Given the description of an element on the screen output the (x, y) to click on. 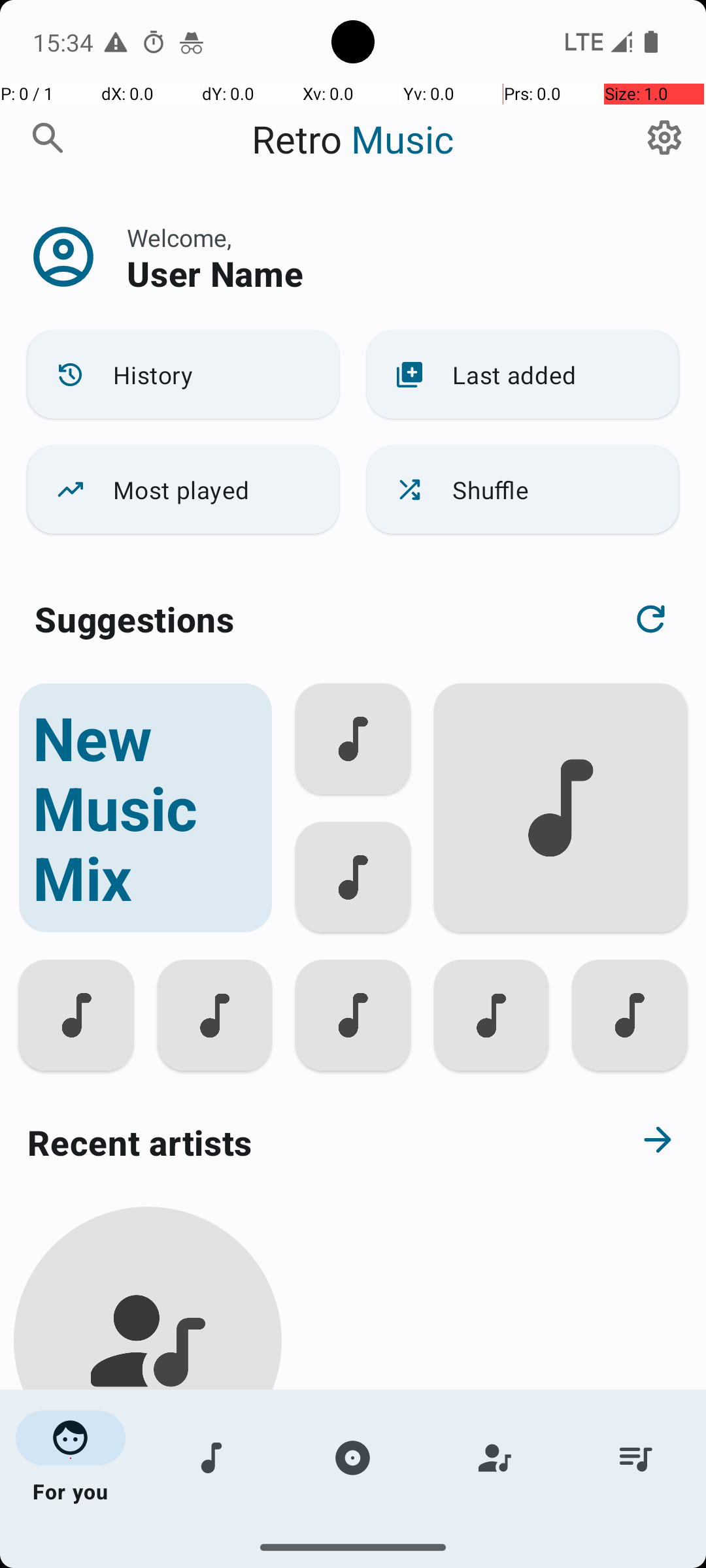
Welcome, Element type: android.widget.TextView (179, 237)
User Name Element type: android.widget.TextView (214, 273)
Most played Element type: android.widget.Button (183, 489)
Suggestions Element type: android.widget.TextView (134, 618)
New Music Mix Element type: android.widget.TextView (144, 807)
Recent artists Element type: android.widget.TextView (304, 1141)
Recent albums Element type: android.widget.TextView (304, 1557)
Mohammad Element type: android.widget.TextView (147, 1503)
